Given the description of an element on the screen output the (x, y) to click on. 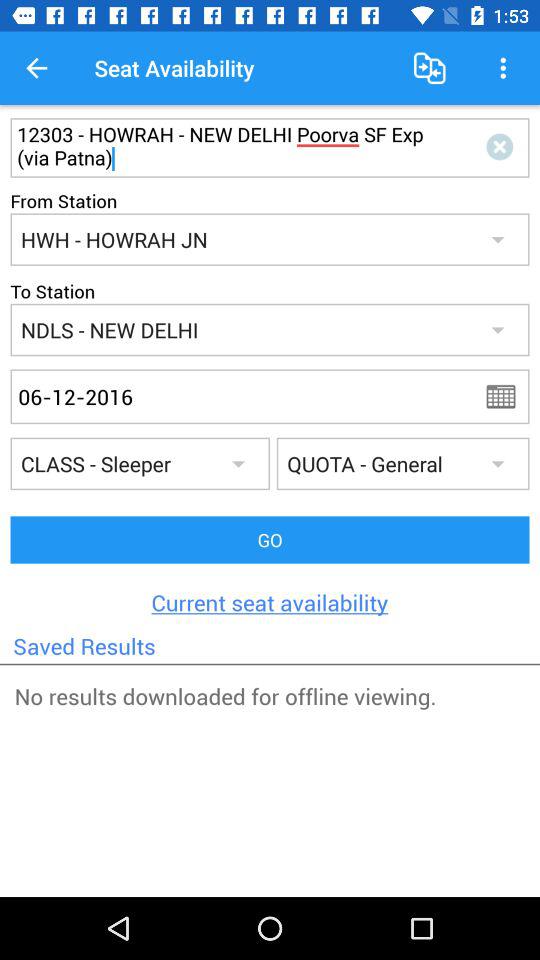
scroll to 12303 howrah new item (233, 147)
